Given the description of an element on the screen output the (x, y) to click on. 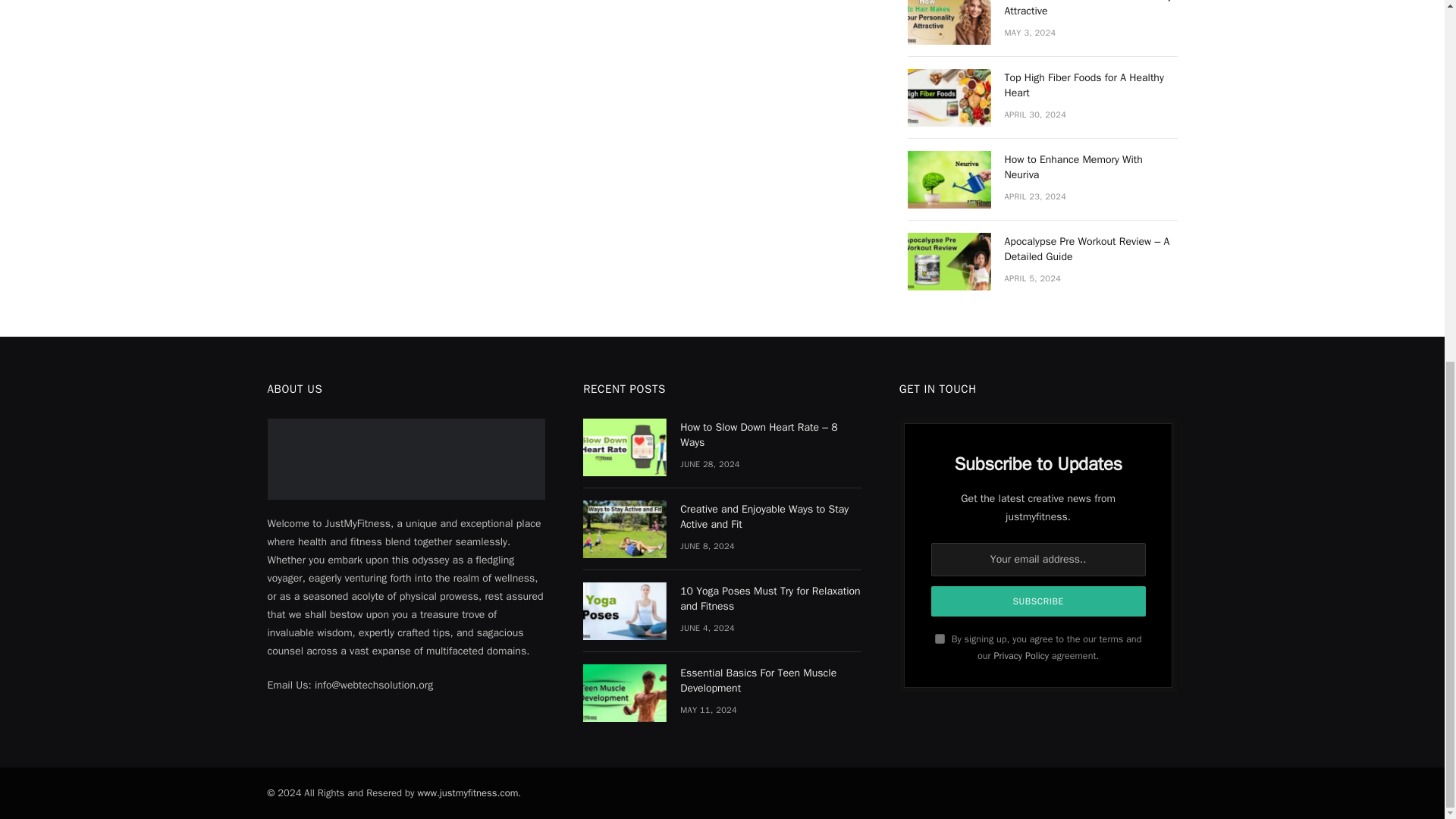
Subscribe (1038, 601)
Top High Fiber Foods for A Healthy Heart (948, 97)
on (939, 638)
How 2c Hair Makes Your Personality Attractive (948, 22)
How to Enhance Memory With Neuriva (948, 179)
